Given the description of an element on the screen output the (x, y) to click on. 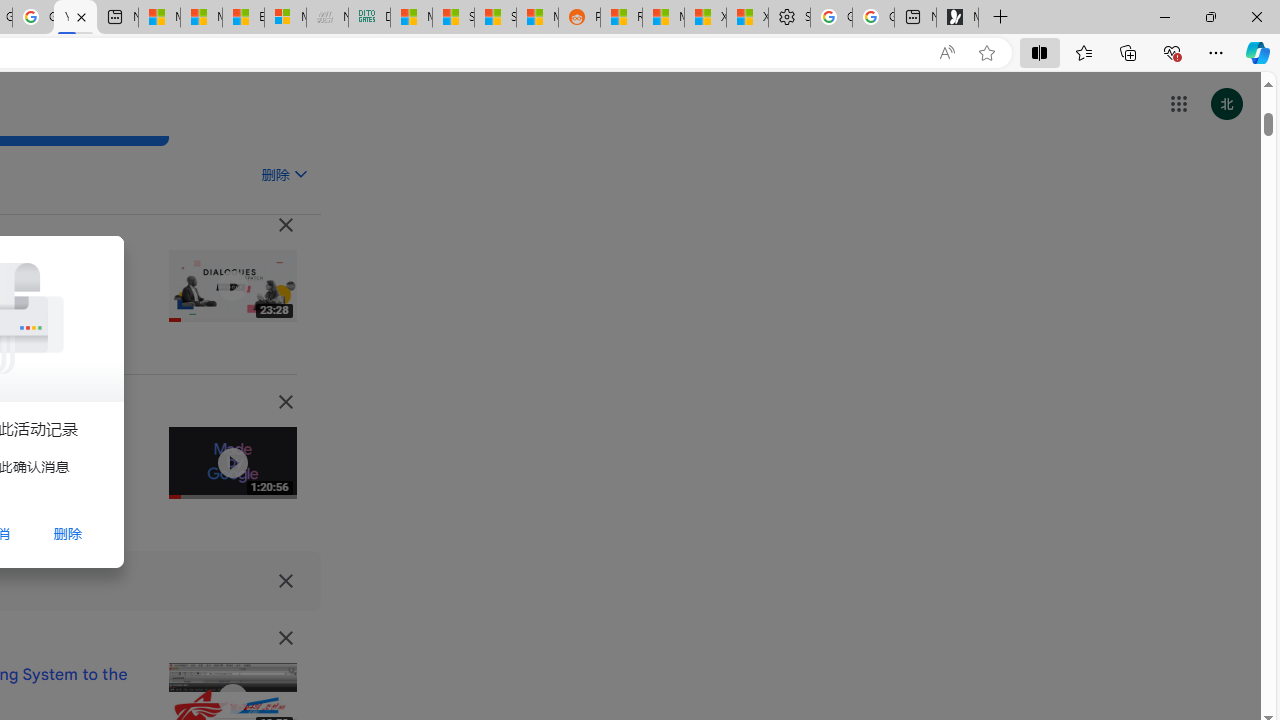
Class: asE2Ub NMm5M (299, 173)
